Given the description of an element on the screen output the (x, y) to click on. 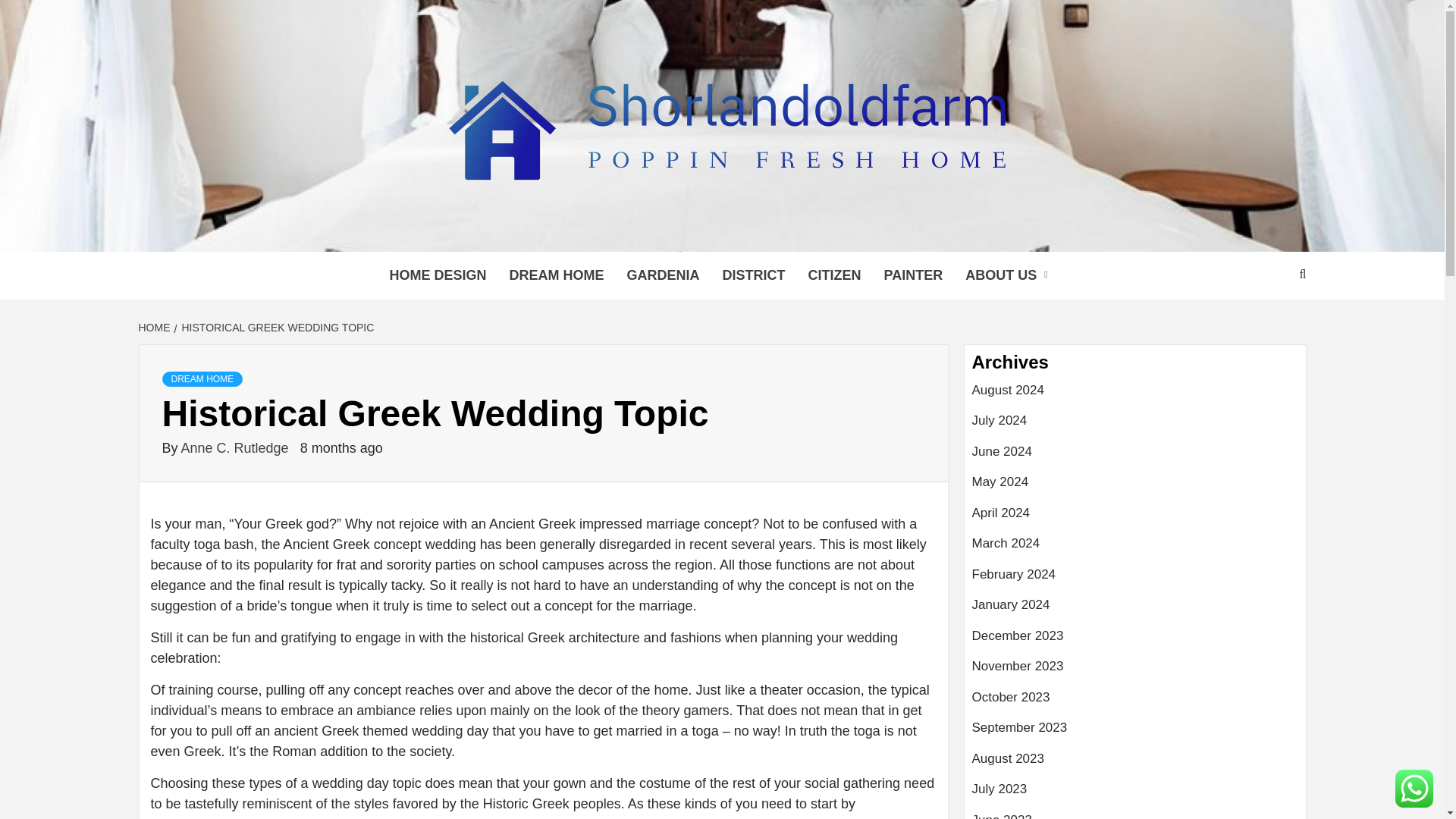
HOME (155, 327)
November 2023 (1135, 671)
June 2024 (1135, 457)
HISTORICAL GREEK WEDDING TOPIC (276, 327)
Anne C. Rutledge (236, 447)
May 2024 (1135, 487)
DREAM HOME (555, 275)
April 2024 (1135, 518)
DISTRICT (753, 275)
July 2024 (1135, 426)
